Given the description of an element on the screen output the (x, y) to click on. 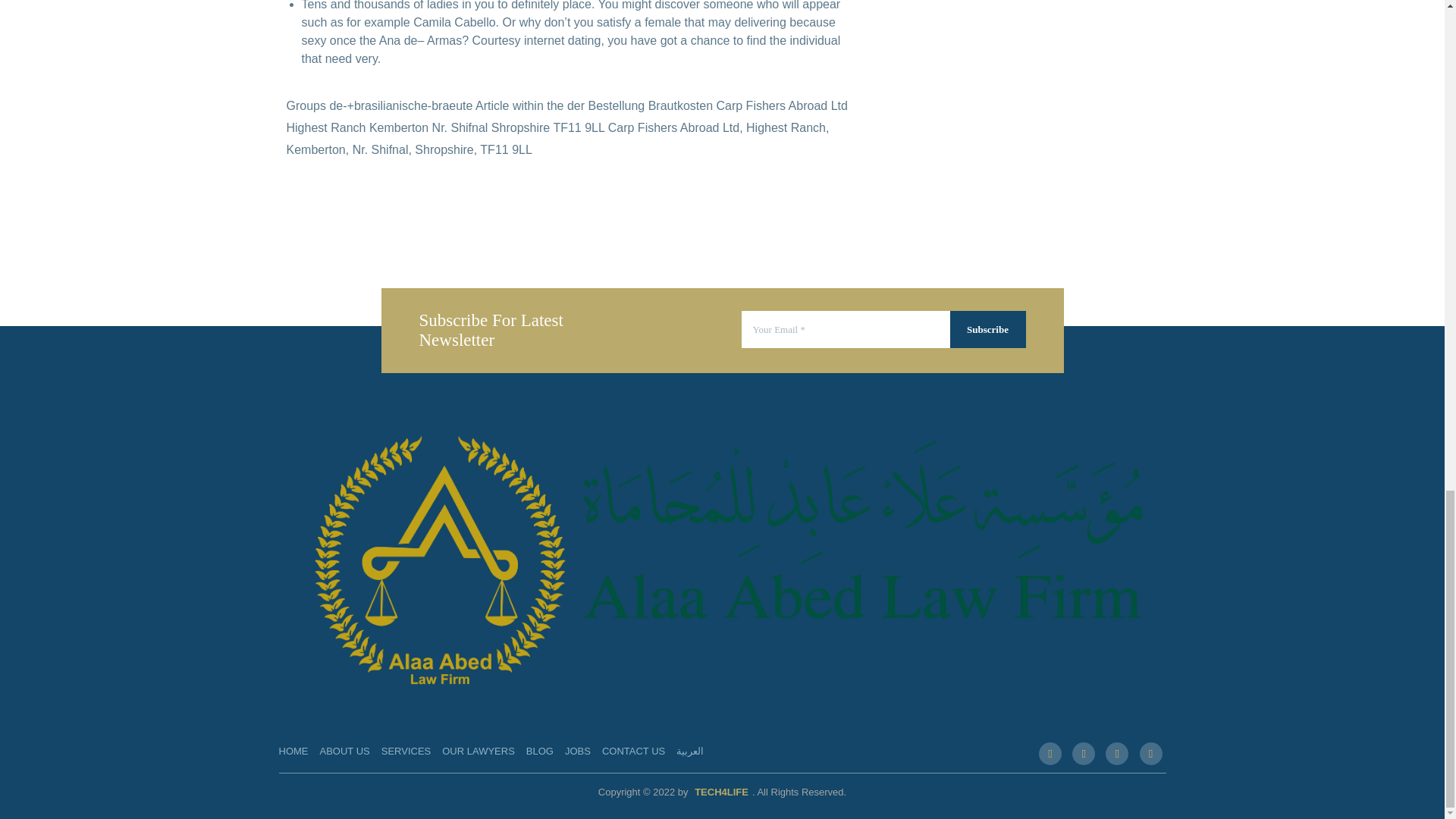
HOME (293, 750)
ABOUT US (344, 750)
CONTACT US (633, 750)
OUR LAWYERS (478, 750)
JOBS (577, 750)
SERVICES (405, 750)
TECH4LIFE (721, 791)
Subscribe (987, 329)
BLOG (539, 750)
Subscribe (987, 329)
